Given the description of an element on the screen output the (x, y) to click on. 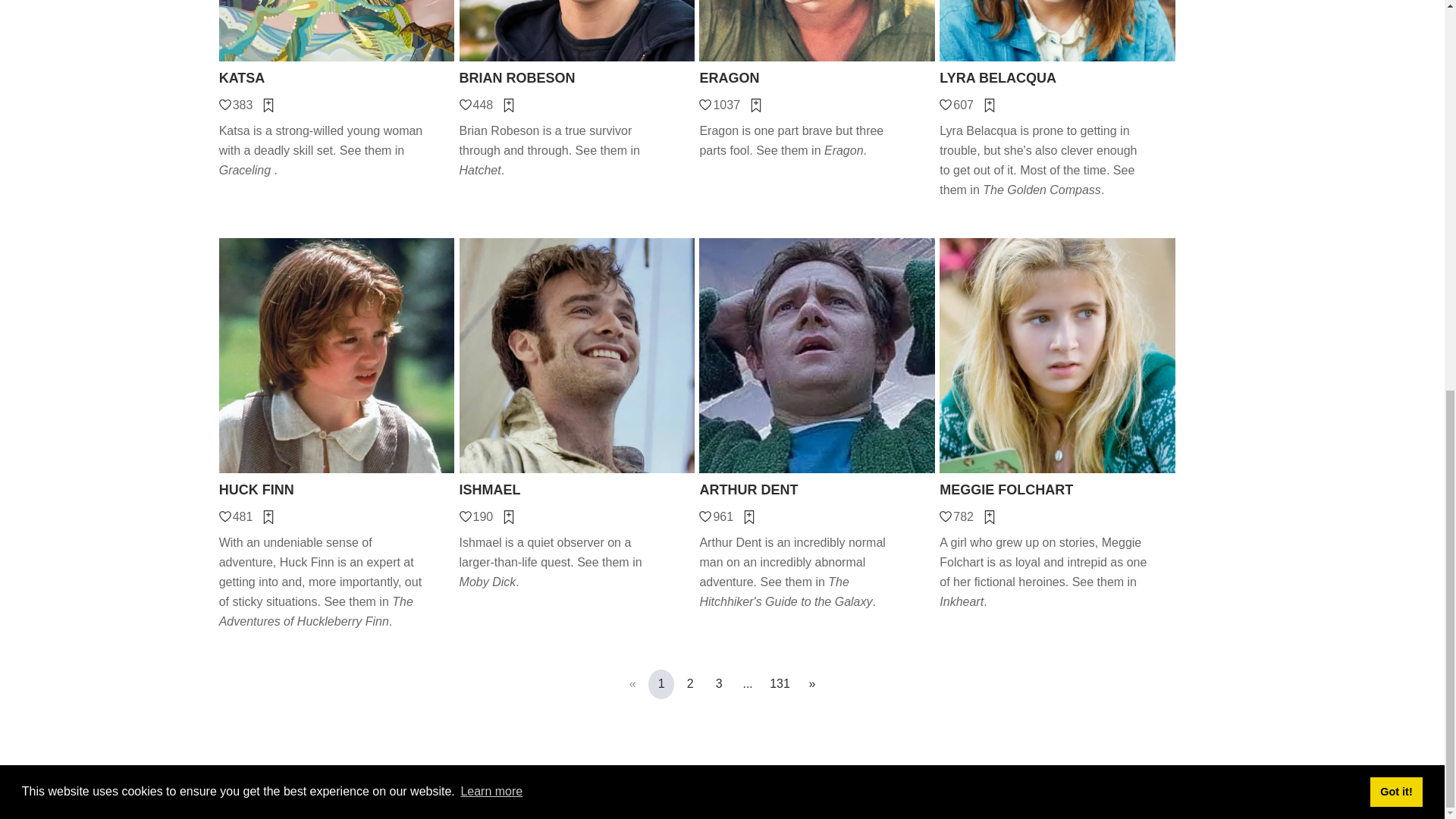
Learn more (491, 47)
Got it! (1396, 46)
BRIAN ROBESON (577, 77)
LYRA BELACQUA (1056, 77)
ERAGON (816, 77)
KATSA (336, 77)
